Given the description of an element on the screen output the (x, y) to click on. 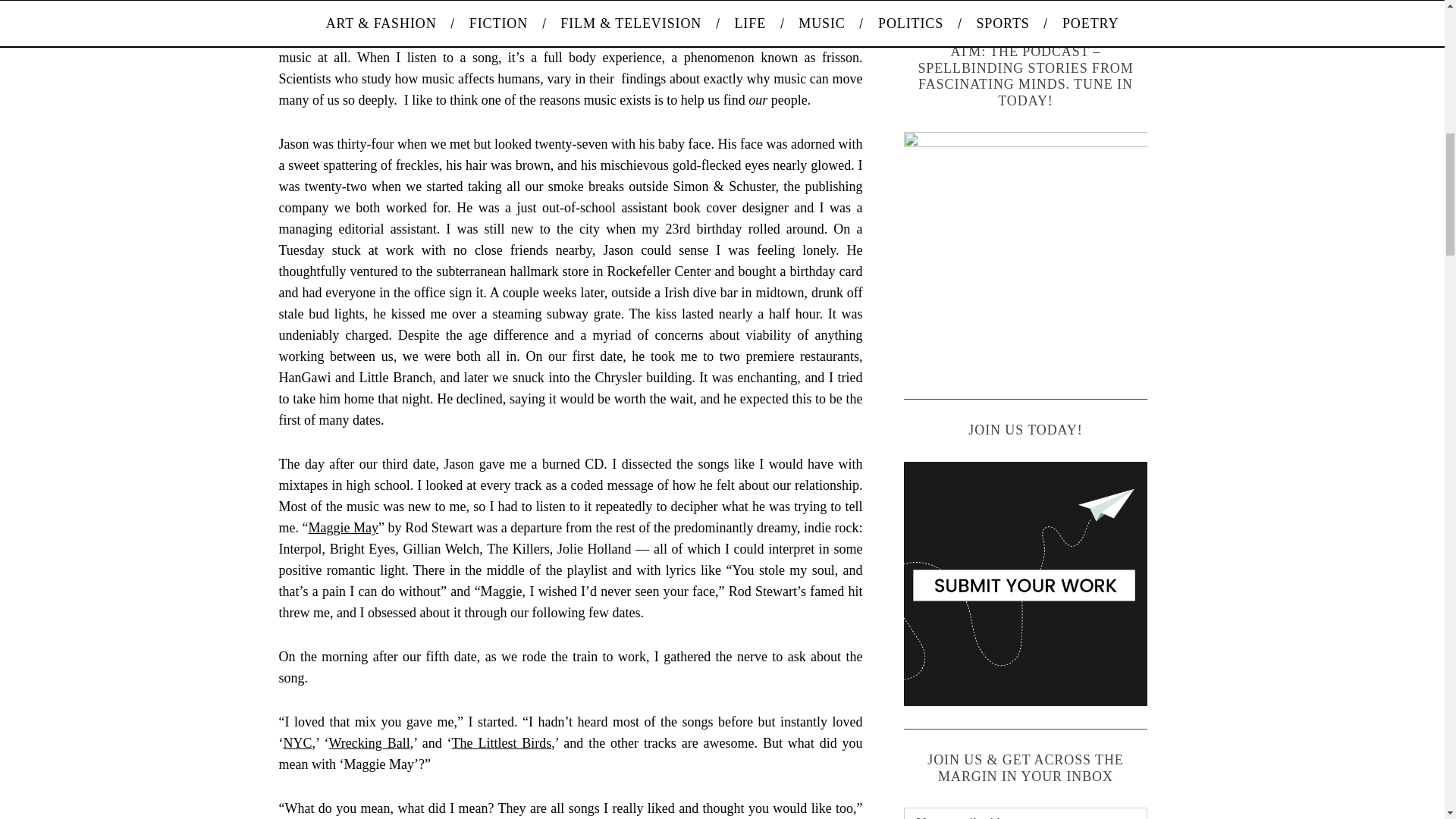
Wrecking Ball (369, 743)
JOIN US TODAY! (1026, 583)
The Littlest Birds (501, 743)
Maggie May (343, 527)
NYC (298, 743)
